Given the description of an element on the screen output the (x, y) to click on. 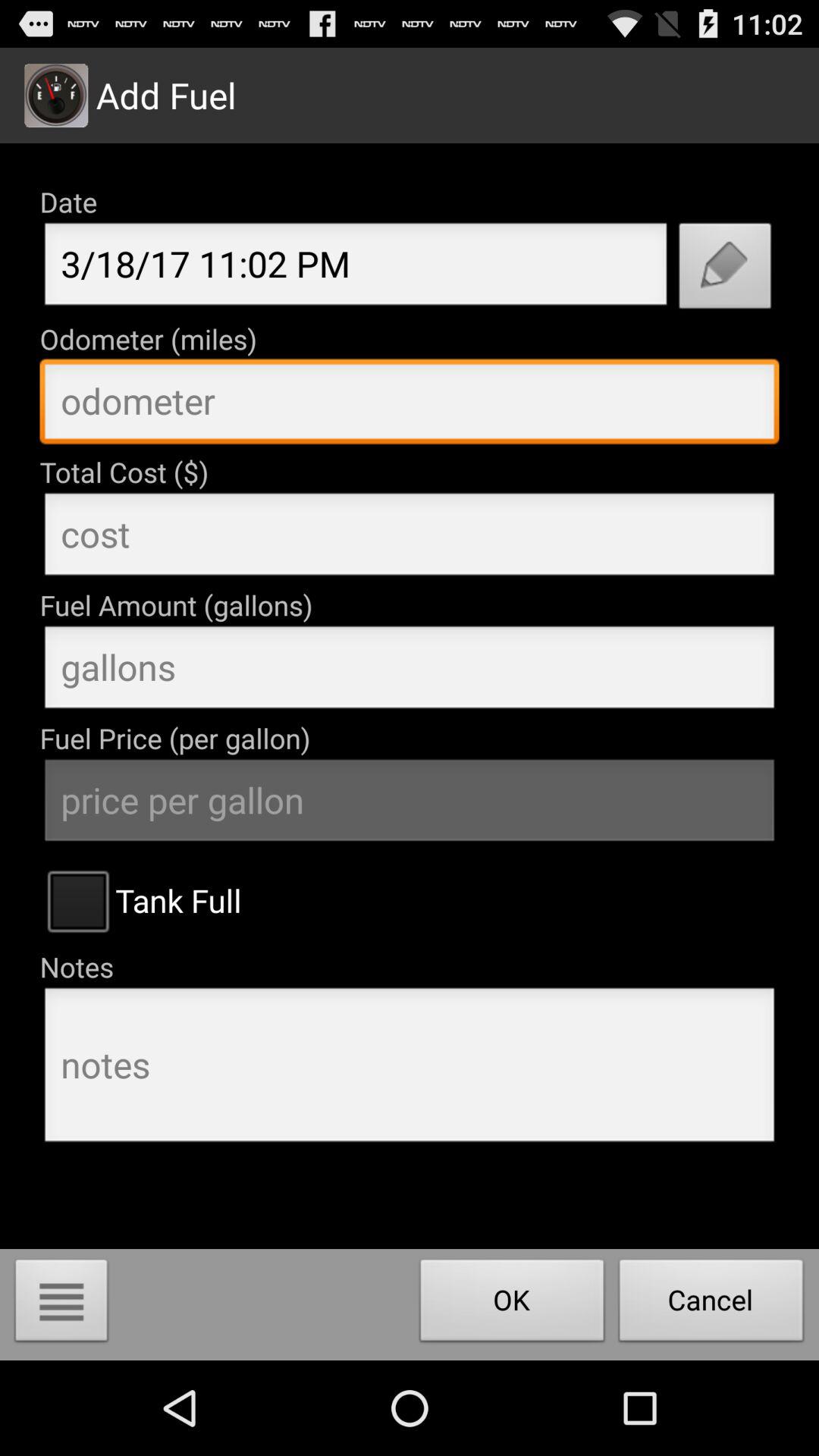
this is a box to enter notes (409, 1068)
